Given the description of an element on the screen output the (x, y) to click on. 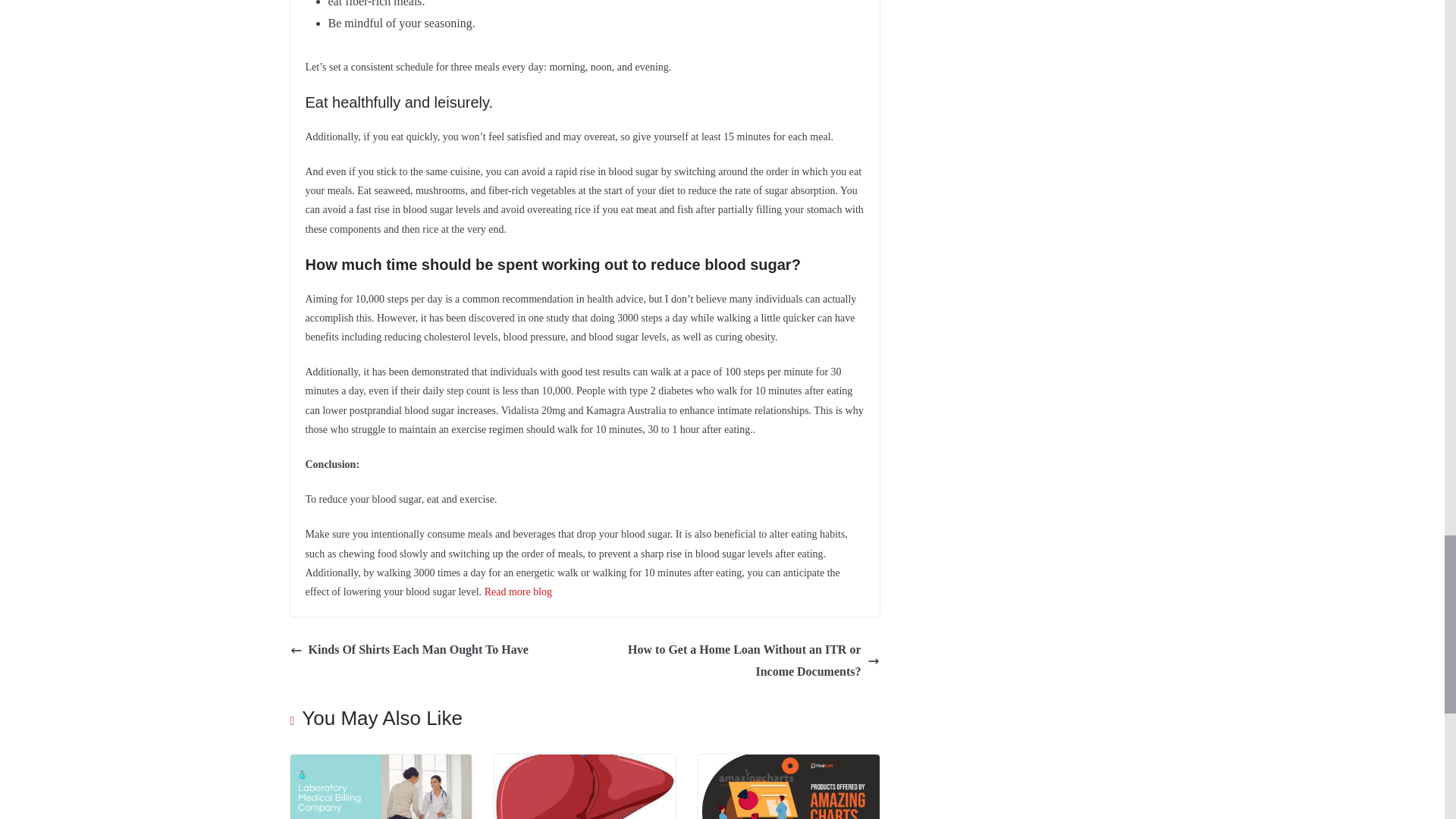
How to Get a Home Loan Without an ITR or Income Documents? (735, 661)
Read more blog (517, 591)
Kinds Of Shirts Each Man Ought To Have (408, 649)
